Given the description of an element on the screen output the (x, y) to click on. 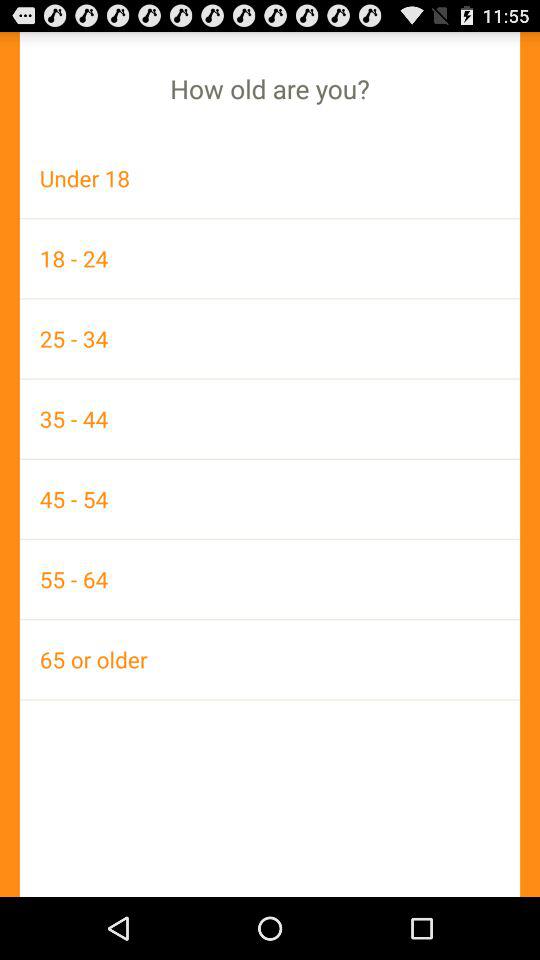
scroll to 35 - 44 (269, 418)
